Given the description of an element on the screen output the (x, y) to click on. 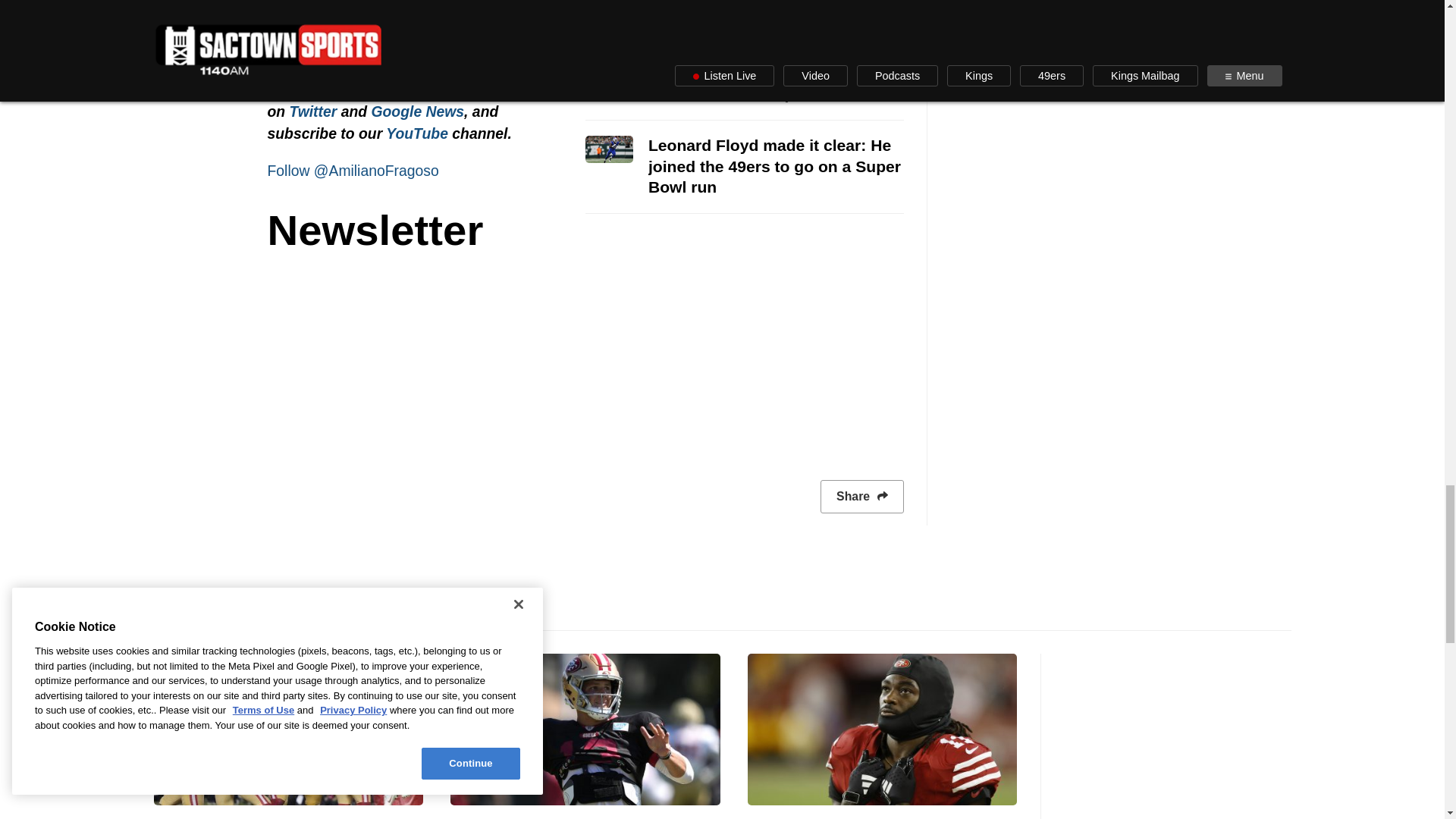
Signup Widget Embed (584, 356)
